Given the description of an element on the screen output the (x, y) to click on. 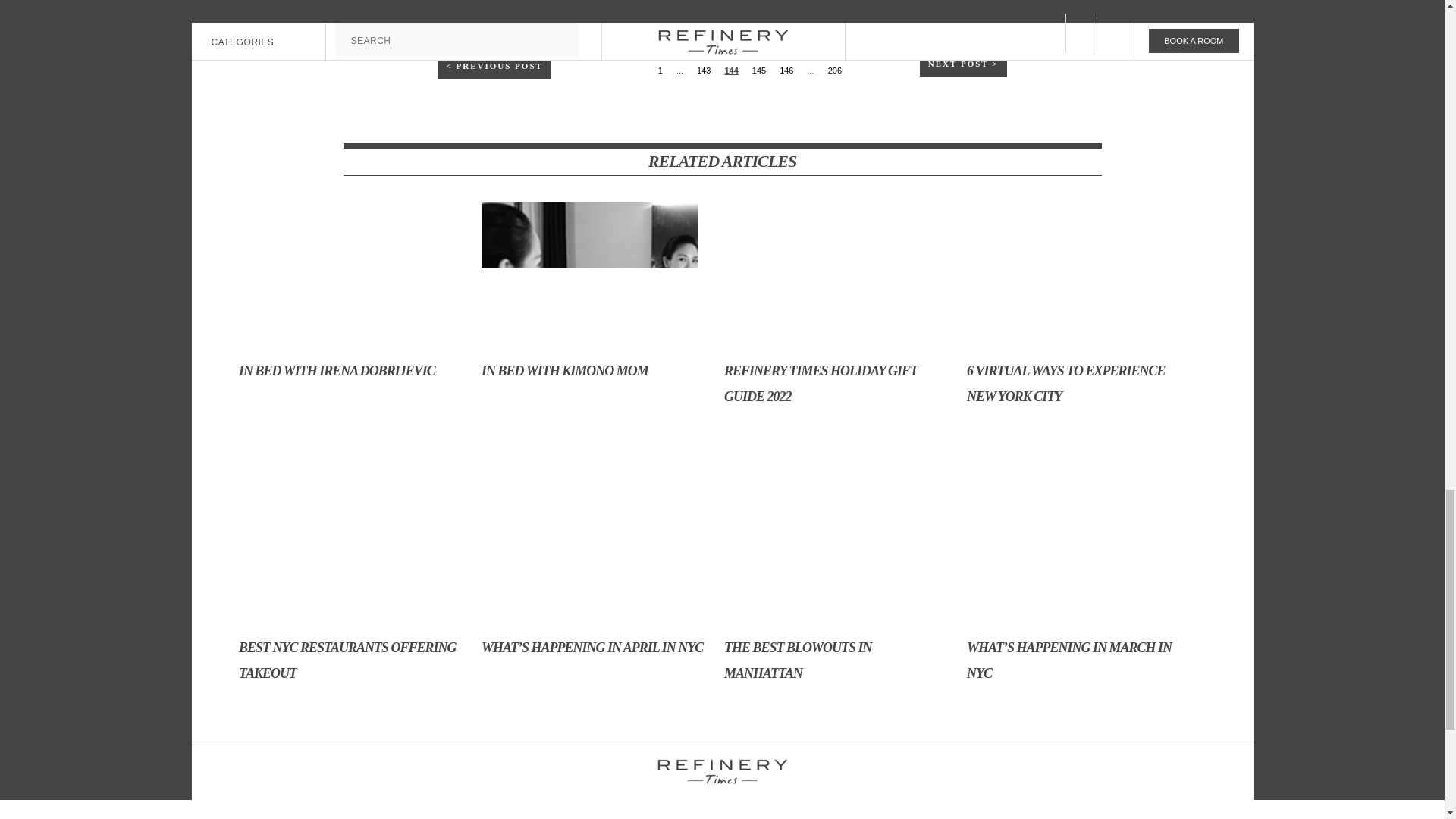
146 (785, 69)
6 VIRTUAL WAYS TO EXPERIENCE NEW YORK CITY (1079, 315)
THE BEST BLOWOUTS IN MANHATTAN (837, 592)
145 (759, 69)
143 (703, 69)
Refinery Kentucky Derby Party (860, 28)
REFINERY TIMES HOLIDAY GIFT GUIDE 2022 (837, 315)
146 (785, 69)
BEST NYC RESTAURANTS OFFERING TAKEOUT (351, 592)
IN BED WITH IRENA DOBRIJEVIC (351, 302)
